Given the description of an element on the screen output the (x, y) to click on. 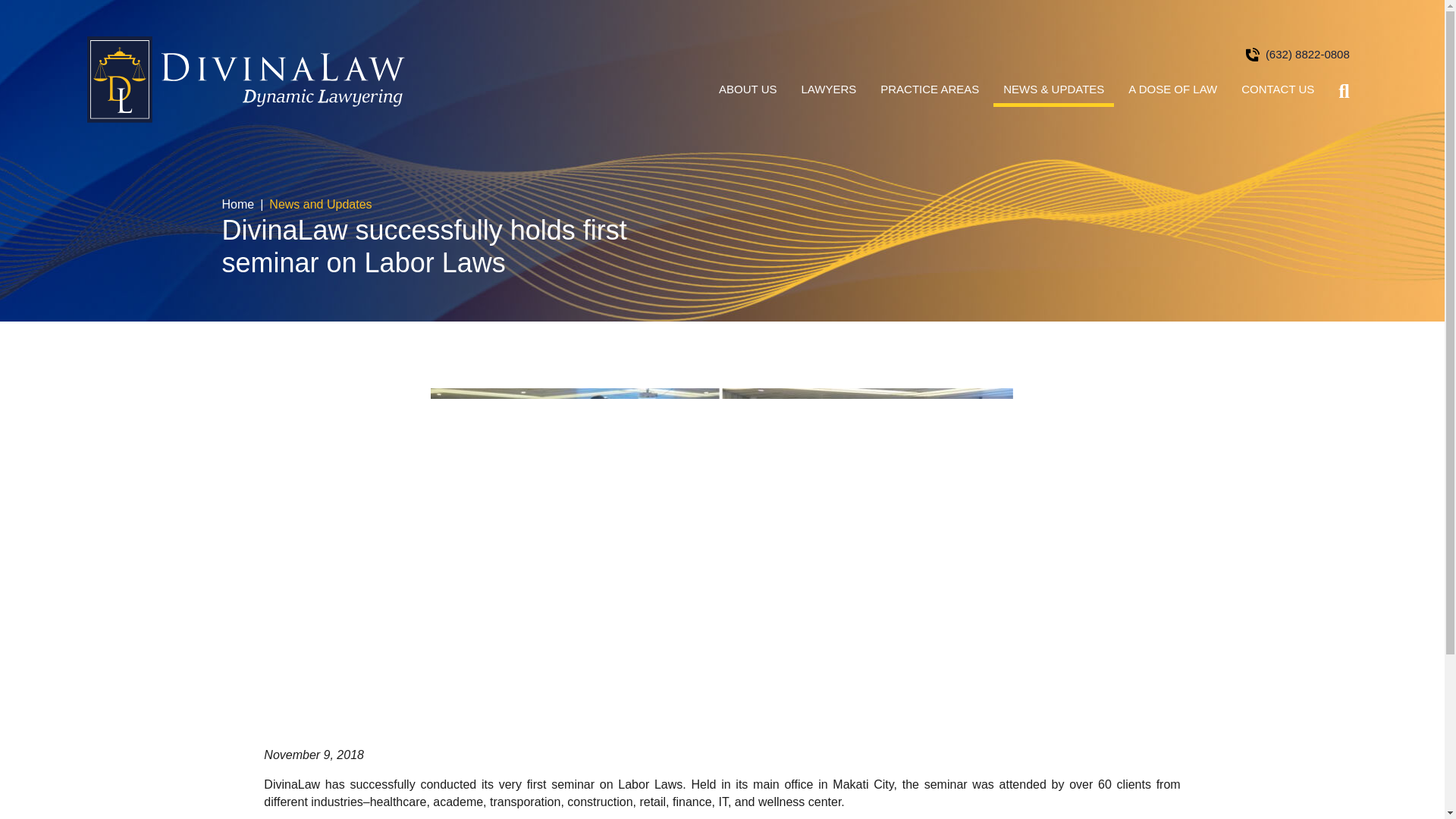
LAWYERS (829, 94)
PRACTICE AREAS (929, 94)
About Us (747, 94)
ABOUT US (747, 94)
Lawyers (829, 94)
Practice Areas (929, 94)
CONTACT US (1277, 94)
A DOSE OF LAW (1172, 94)
